Given the description of an element on the screen output the (x, y) to click on. 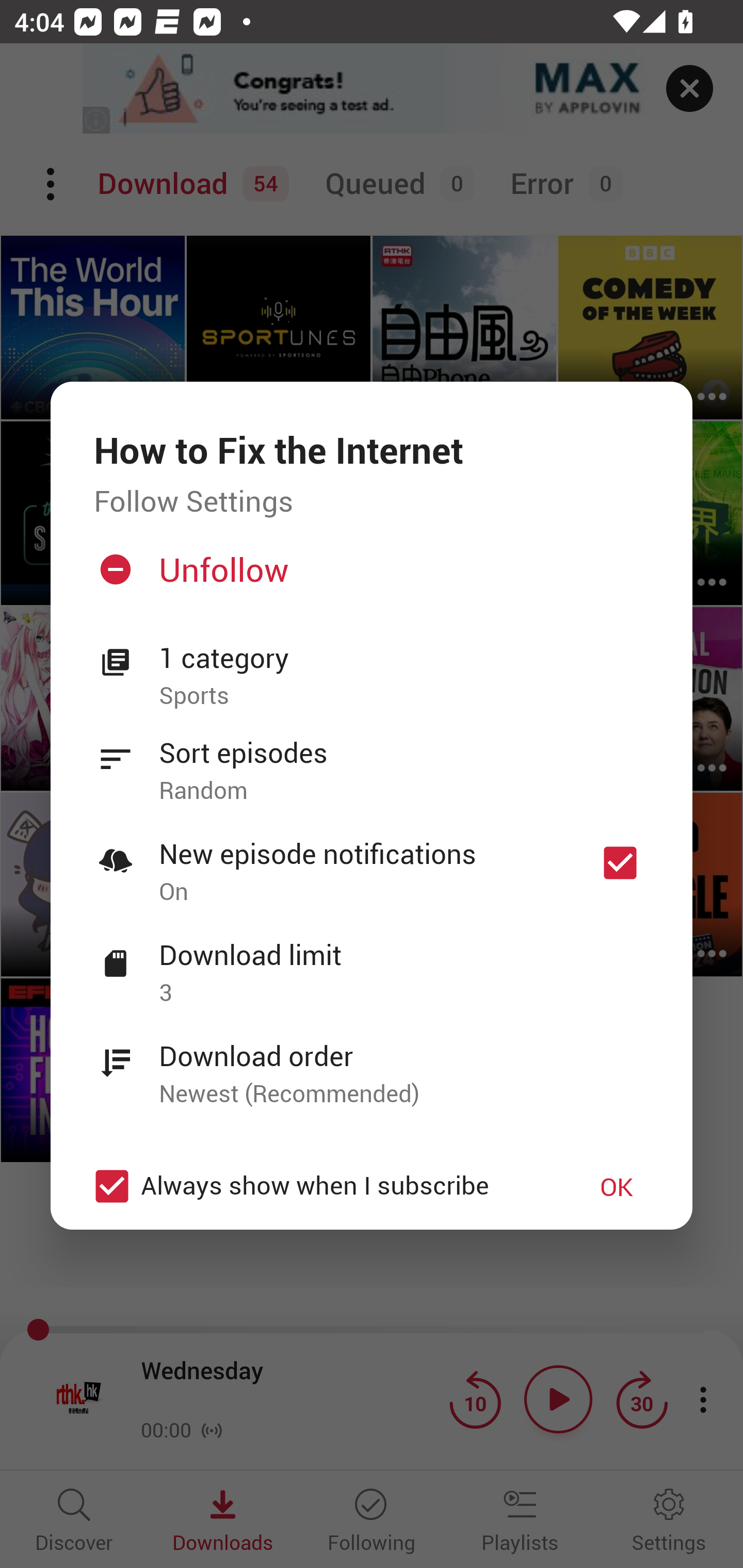
Unfollow (369, 576)
1 category (404, 658)
Sports (404, 696)
Sort episodes Random (371, 760)
New episode notifications (620, 863)
Download limit 3 (371, 962)
Download order Newest (Recommended) (371, 1063)
OK (616, 1186)
Always show when I subscribe (320, 1186)
